Given the description of an element on the screen output the (x, y) to click on. 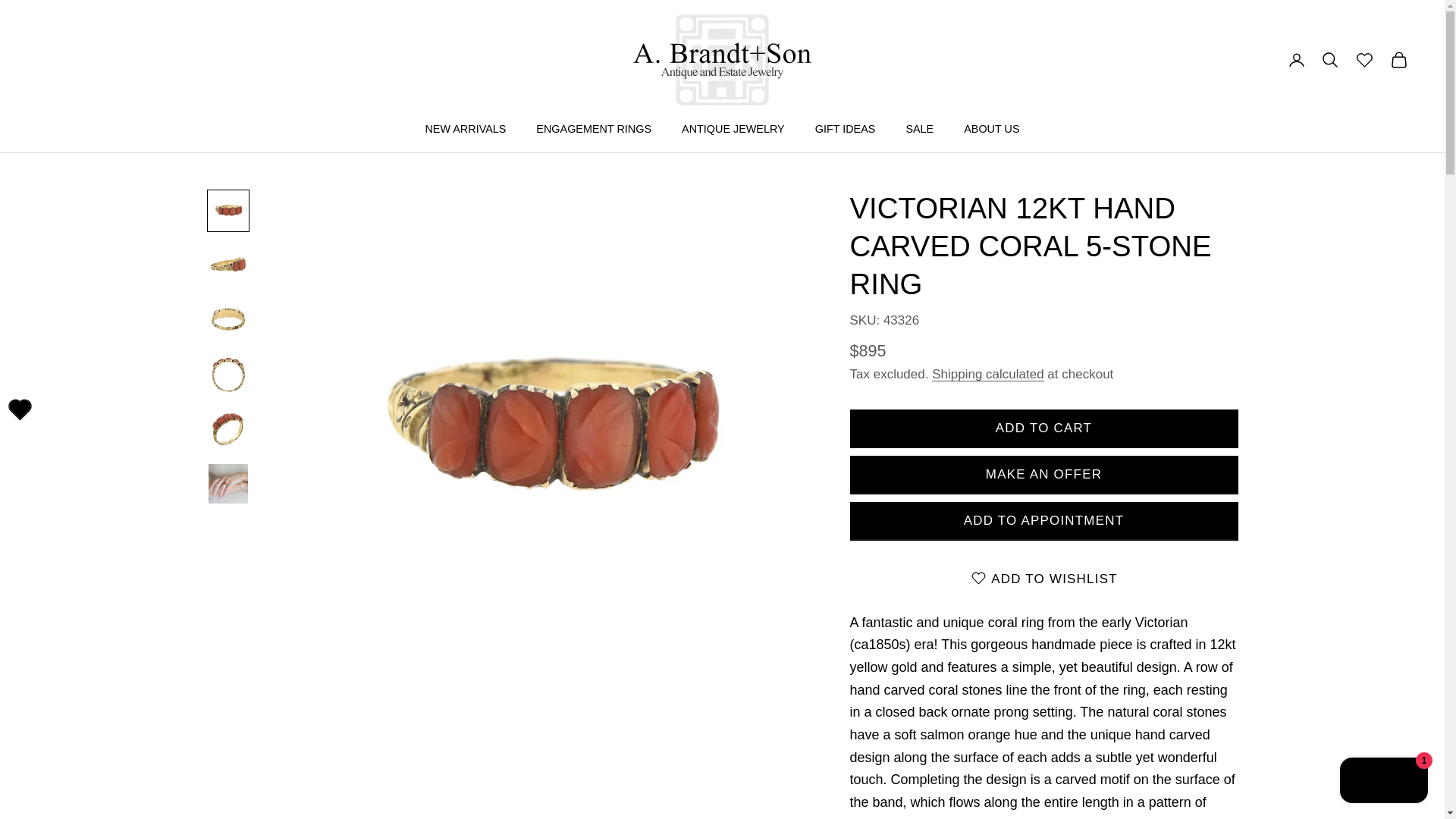
Shopify online store chat (1383, 781)
NEW ARRIVALS (465, 128)
Wishlist (19, 409)
